Given the description of an element on the screen output the (x, y) to click on. 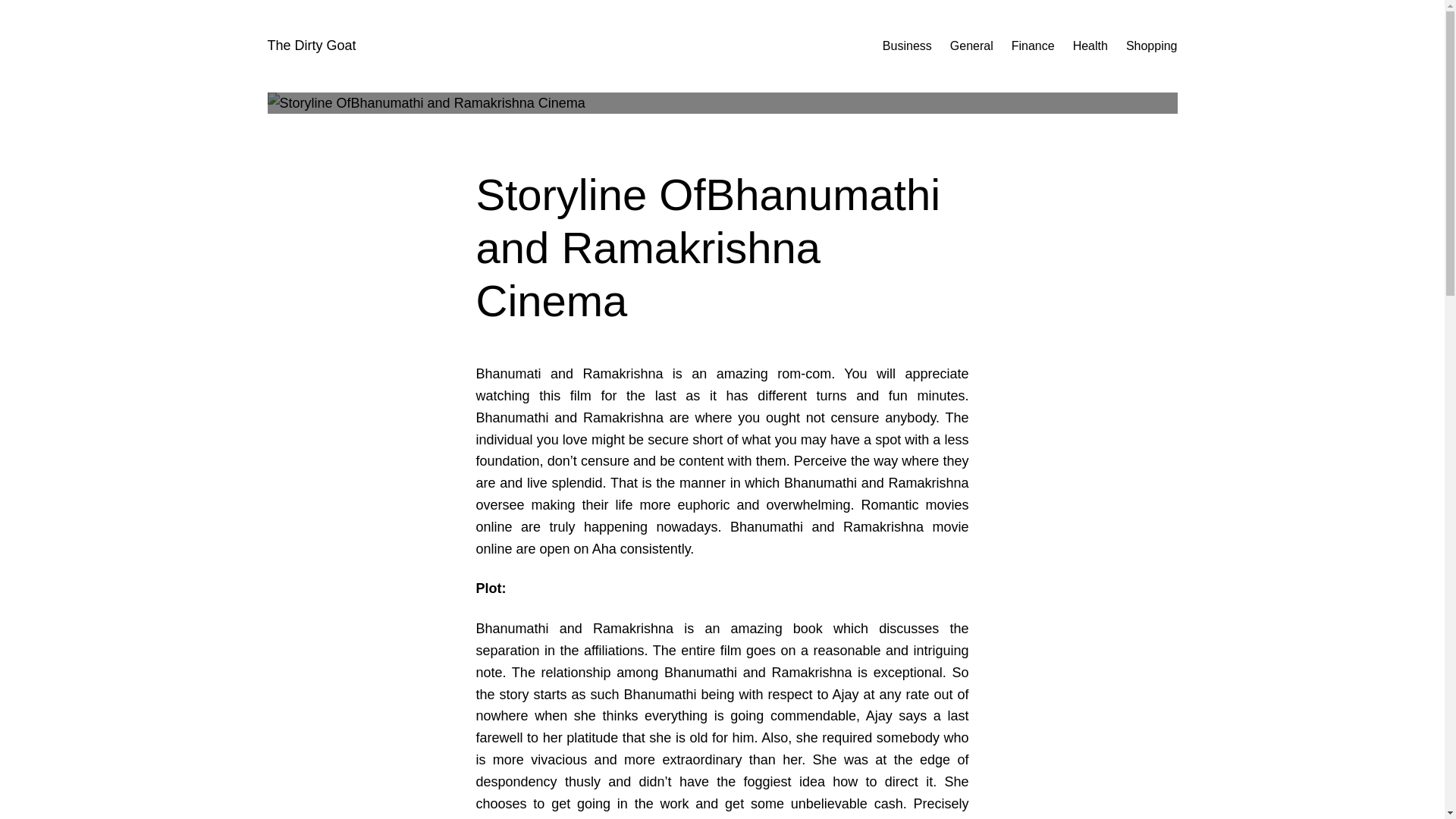
The Dirty Goat (310, 45)
Shopping (1151, 46)
Finance (1032, 46)
General (971, 46)
Health (1090, 46)
Business (906, 46)
